Given the description of an element on the screen output the (x, y) to click on. 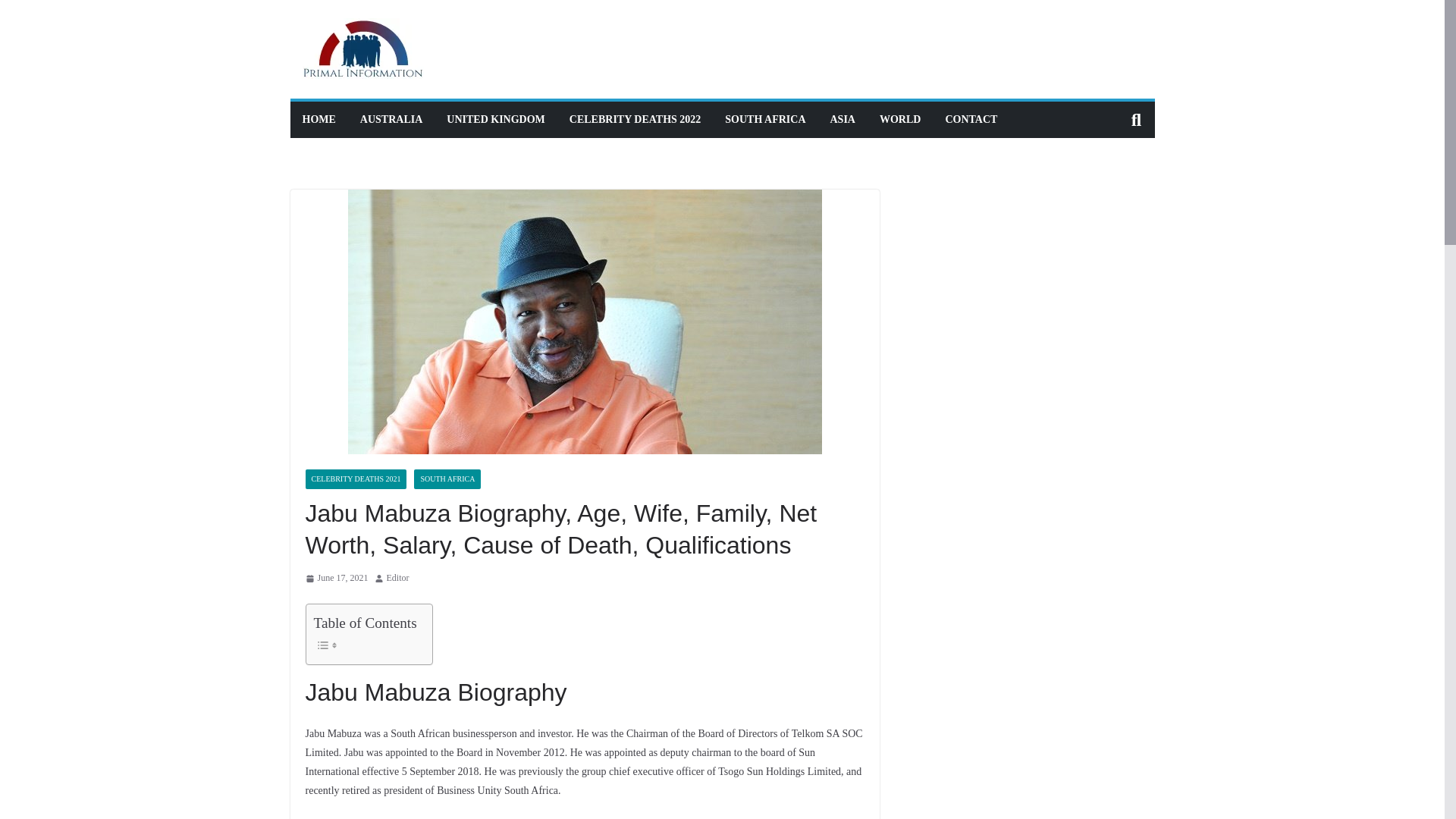
Editor (398, 578)
CELEBRITY DEATHS 2022 (634, 119)
CELEBRITY DEATHS 2021 (355, 478)
AUSTRALIA (390, 119)
WORLD (899, 119)
HOME (317, 119)
2:44 am (336, 578)
CONTACT (970, 119)
SOUTH AFRICA (765, 119)
June 17, 2021 (336, 578)
